Given the description of an element on the screen output the (x, y) to click on. 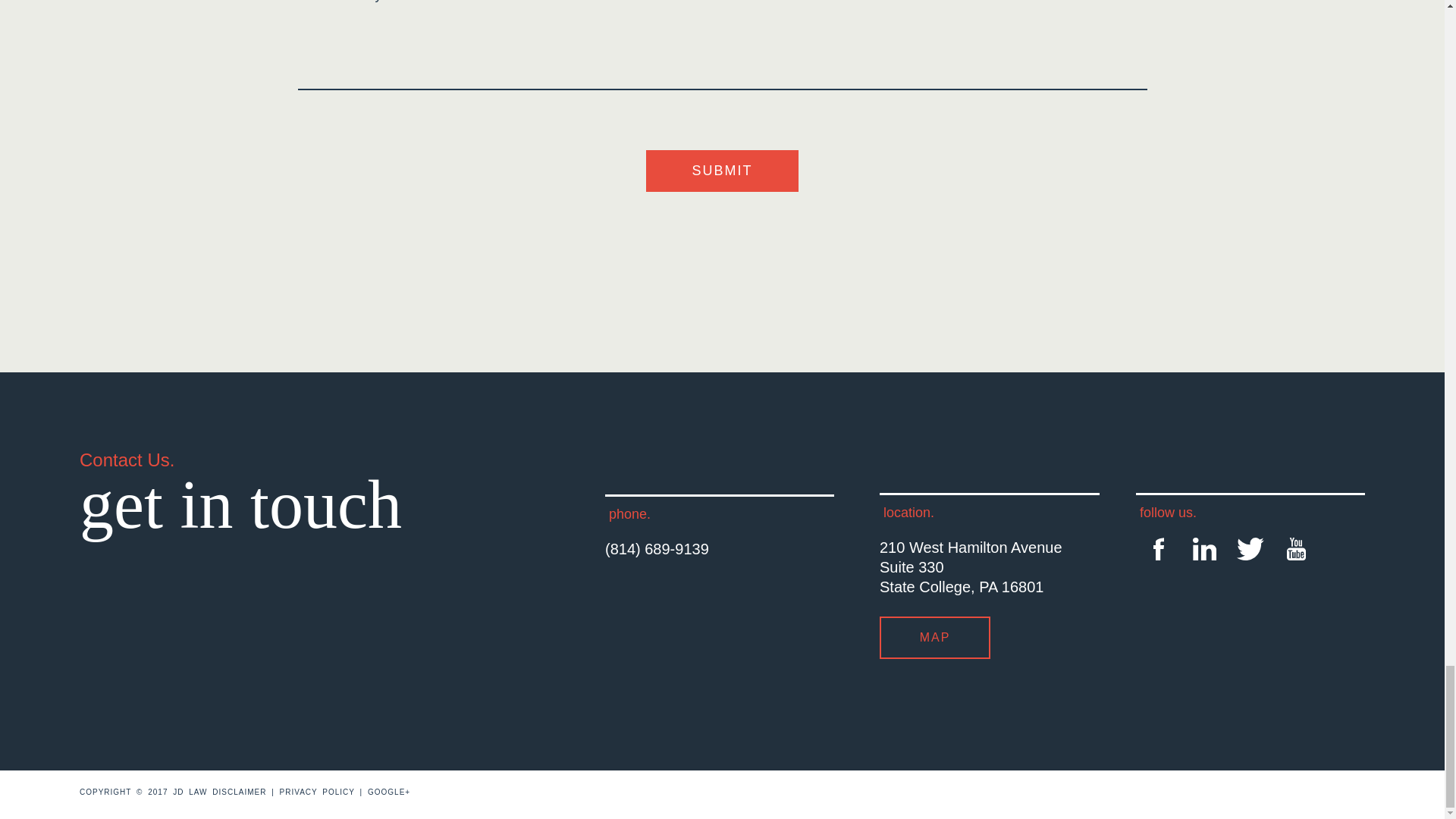
Submit (721, 170)
JD Law Facebook (1157, 551)
JD Law YouTube (1295, 551)
JD Law Twitter (1249, 551)
JD Law LinkedIn (1203, 551)
